Given the description of an element on the screen output the (x, y) to click on. 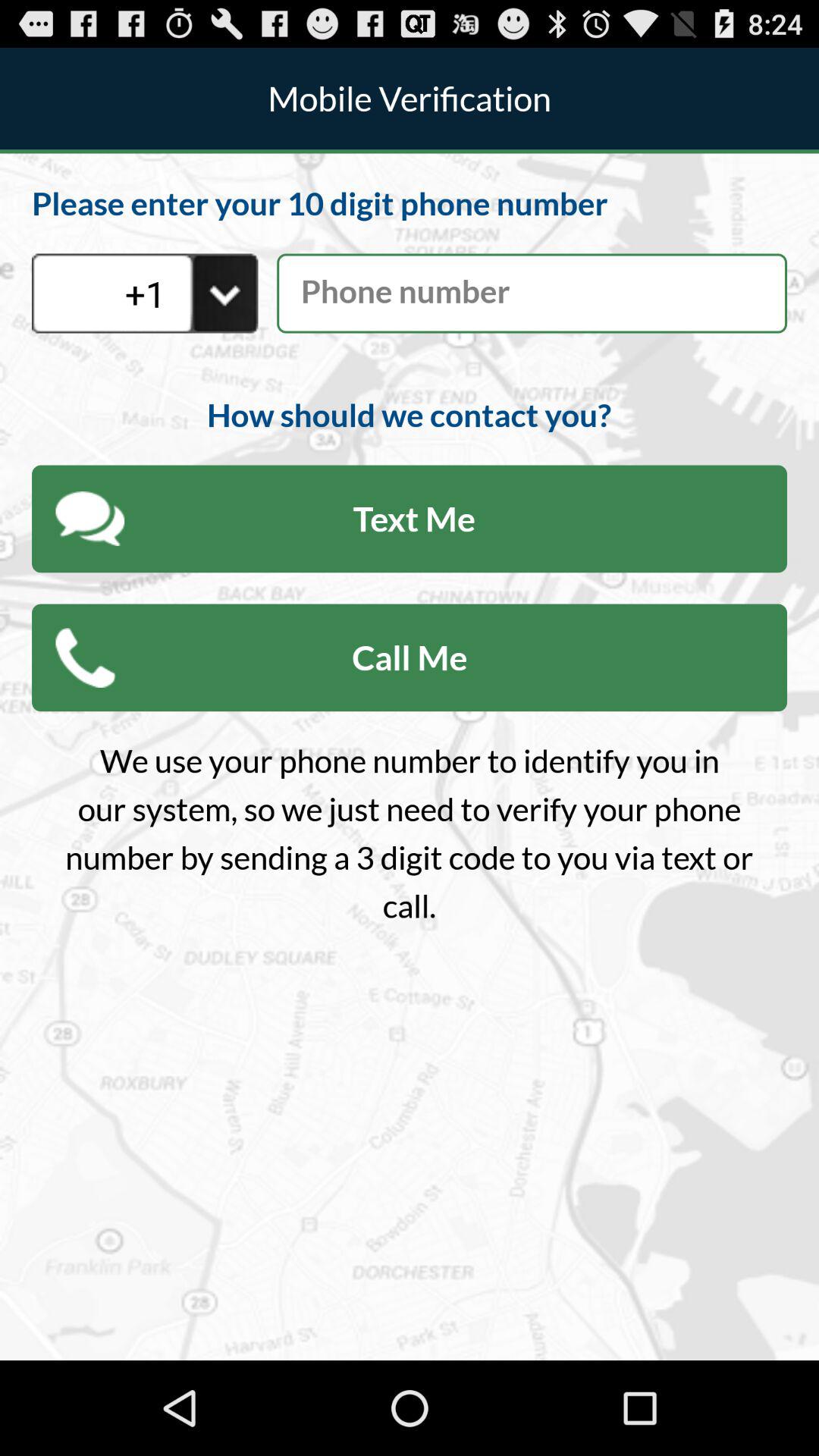
add phone number (531, 293)
